Given the description of an element on the screen output the (x, y) to click on. 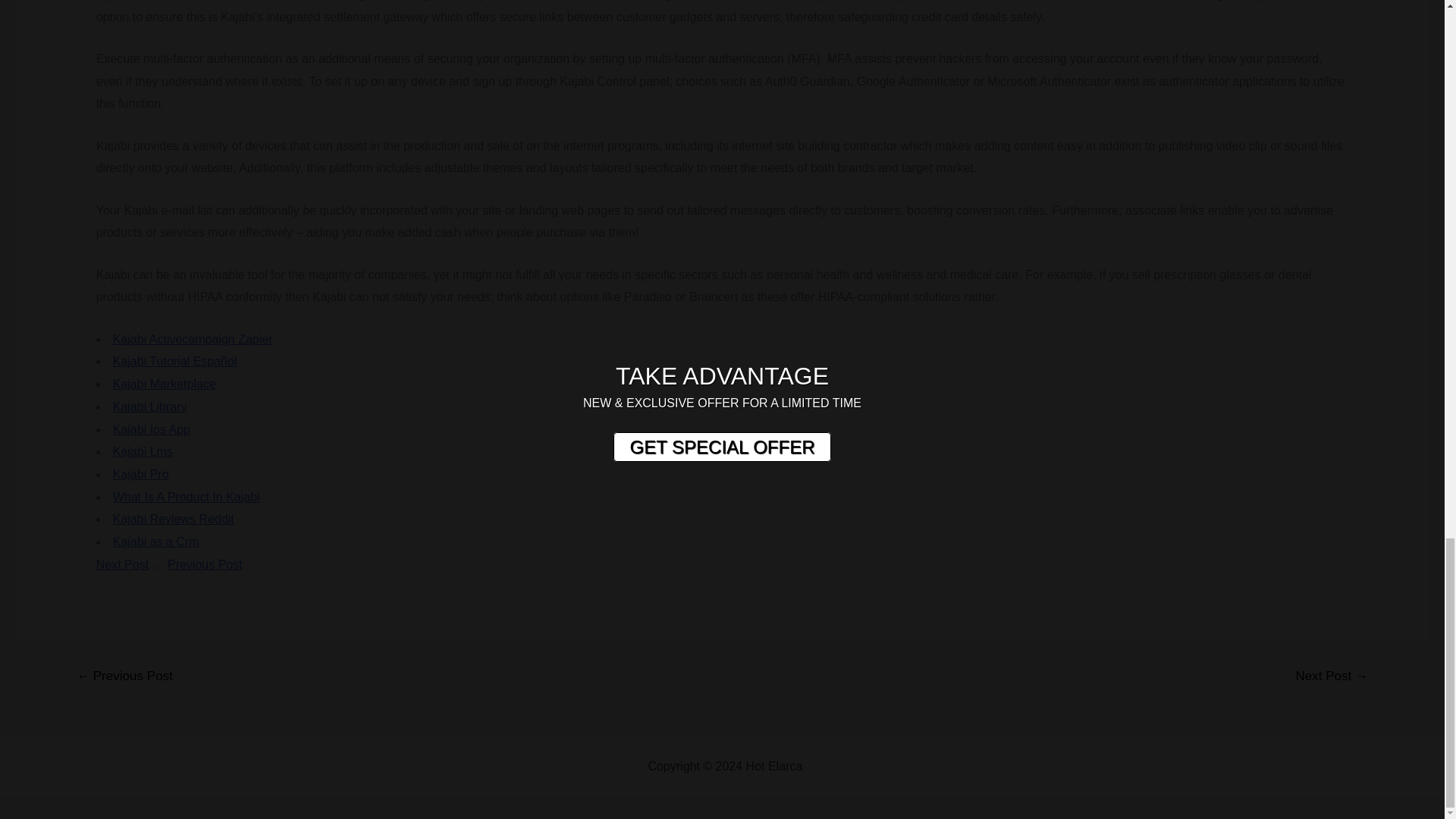
Kajabi Pro (140, 473)
Kajabi Ios App (151, 429)
Kajabi Marketplace (164, 383)
What Is A Product In Kajabi (186, 496)
Kajabi Activecampaign Zapier (193, 338)
What Is A Product In Kajabi (186, 496)
Kajabi as a Crm (156, 541)
Kajabi Ios App (151, 429)
Kajabi Pro (140, 473)
Sitemap (828, 766)
Kajabi Lms (143, 451)
Kajabi Reviews Reddit (173, 518)
Previous Post (205, 563)
Kajabi Library (150, 406)
Kajabi Reviews Reddit (173, 518)
